Given the description of an element on the screen output the (x, y) to click on. 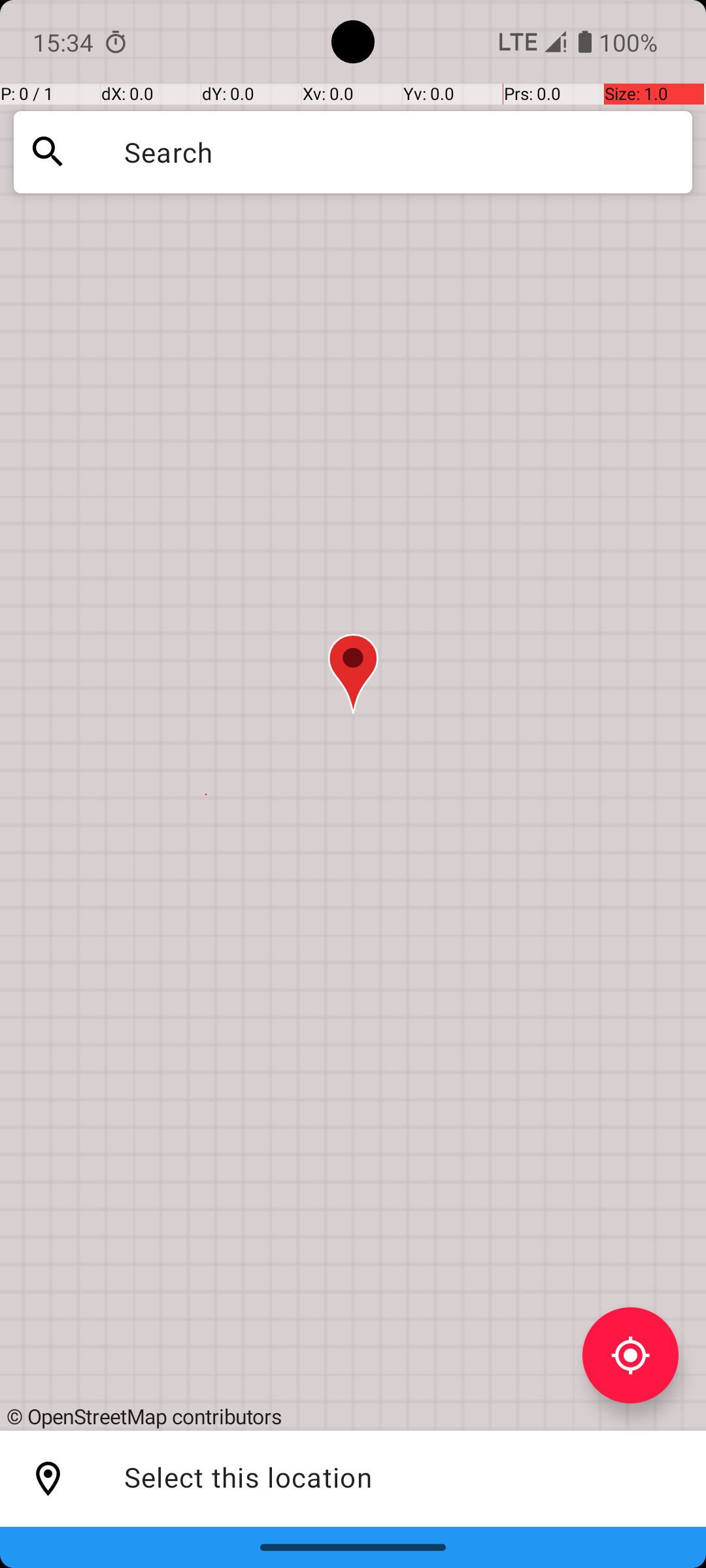
Select this location Element type: android.widget.ImageView (47, 1478)
